Given the description of an element on the screen output the (x, y) to click on. 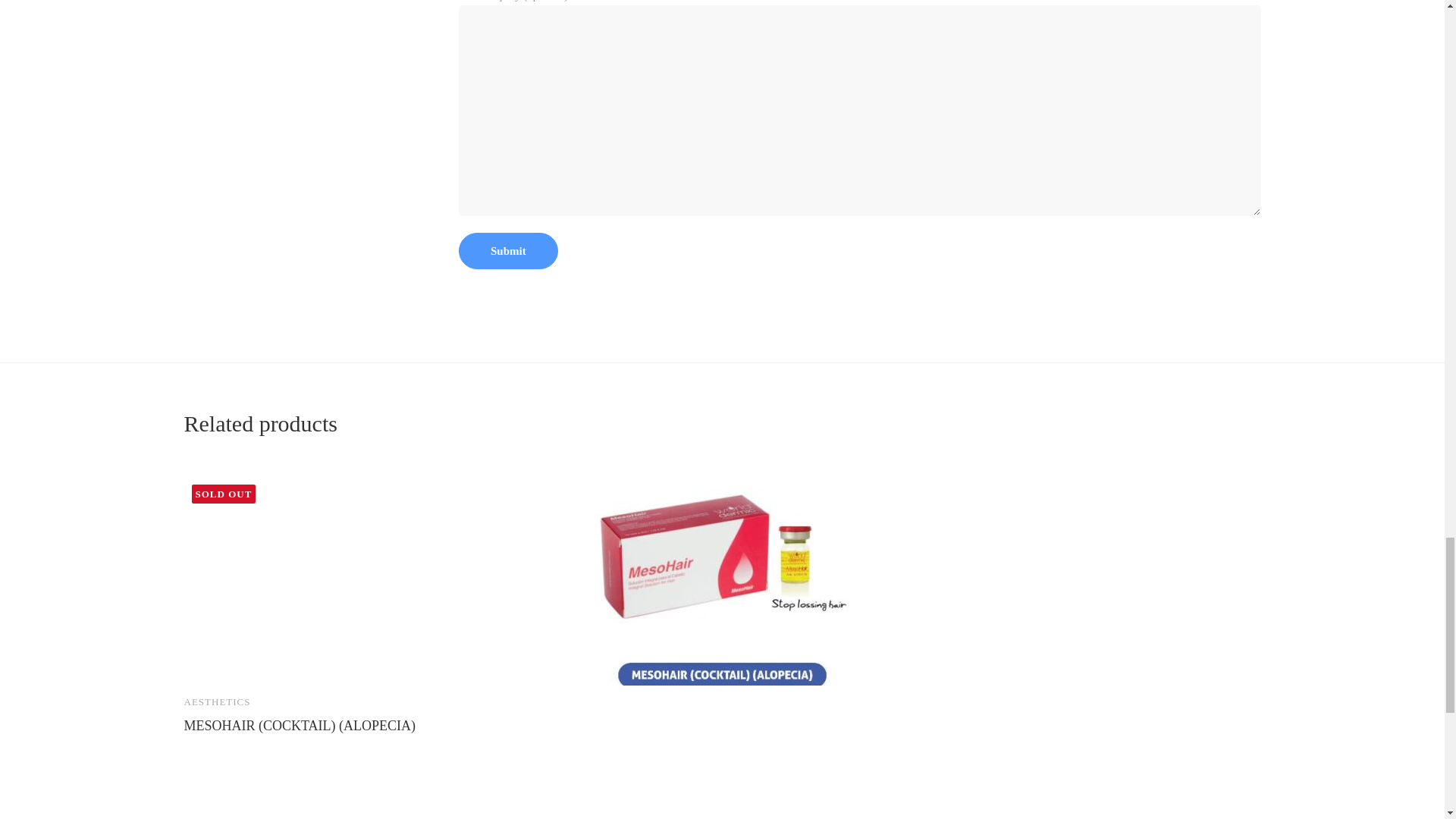
Submit (507, 250)
